Given the description of an element on the screen output the (x, y) to click on. 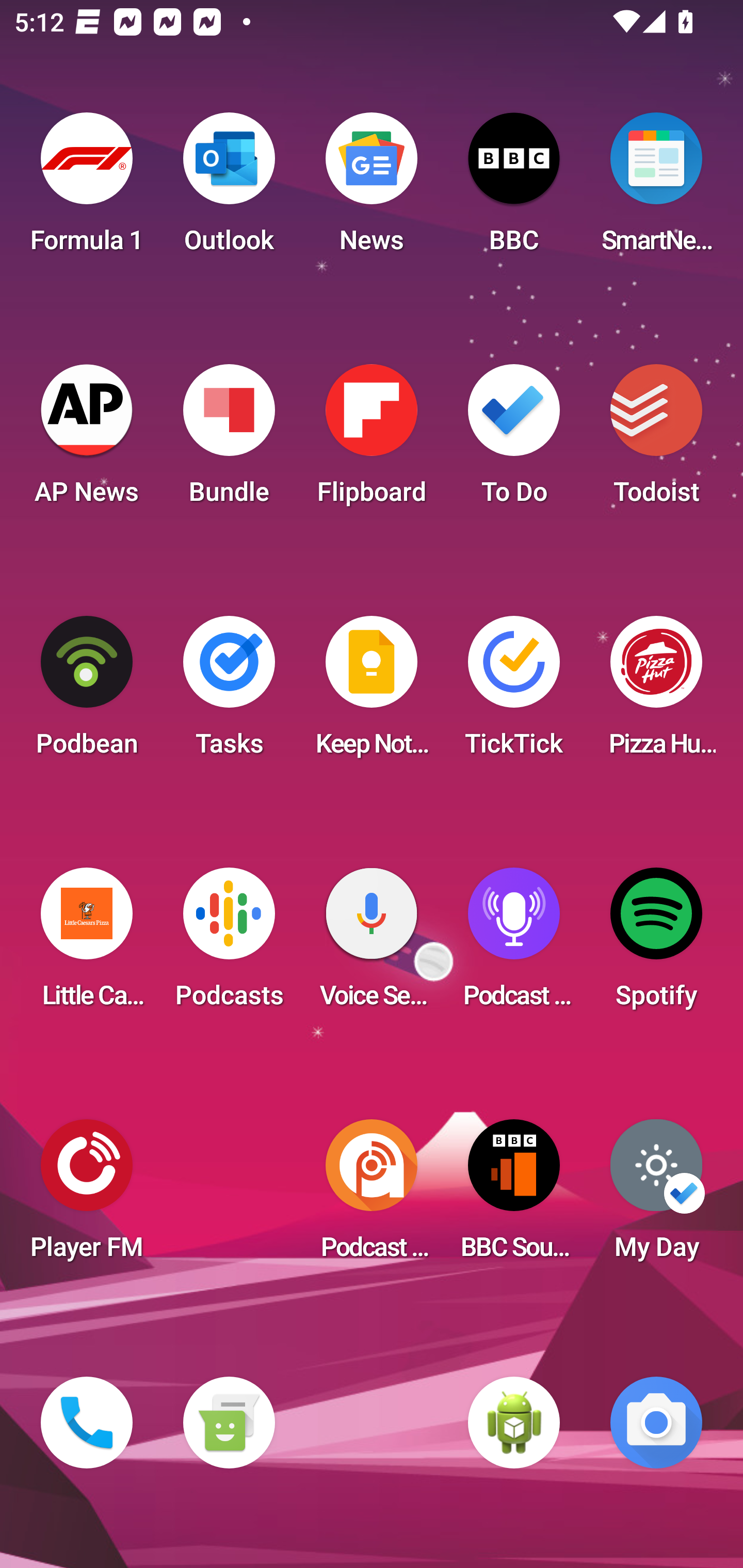
Formula 1 (86, 188)
Outlook (228, 188)
News (371, 188)
BBC (513, 188)
SmartNews (656, 188)
AP News (86, 440)
Bundle (228, 440)
Flipboard (371, 440)
To Do (513, 440)
Todoist (656, 440)
Podbean (86, 692)
Tasks (228, 692)
Keep Notes (371, 692)
TickTick (513, 692)
Pizza Hut HK & Macau (656, 692)
Little Caesars Pizza (86, 943)
Podcasts (228, 943)
Voice Search (371, 943)
Podcast Player (513, 943)
Spotify (656, 943)
Player FM (86, 1195)
Podcast Addict (371, 1195)
BBC Sounds (513, 1195)
My Day (656, 1195)
Phone (86, 1422)
Messaging (228, 1422)
WebView Browser Tester (513, 1422)
Camera (656, 1422)
